Given the description of an element on the screen output the (x, y) to click on. 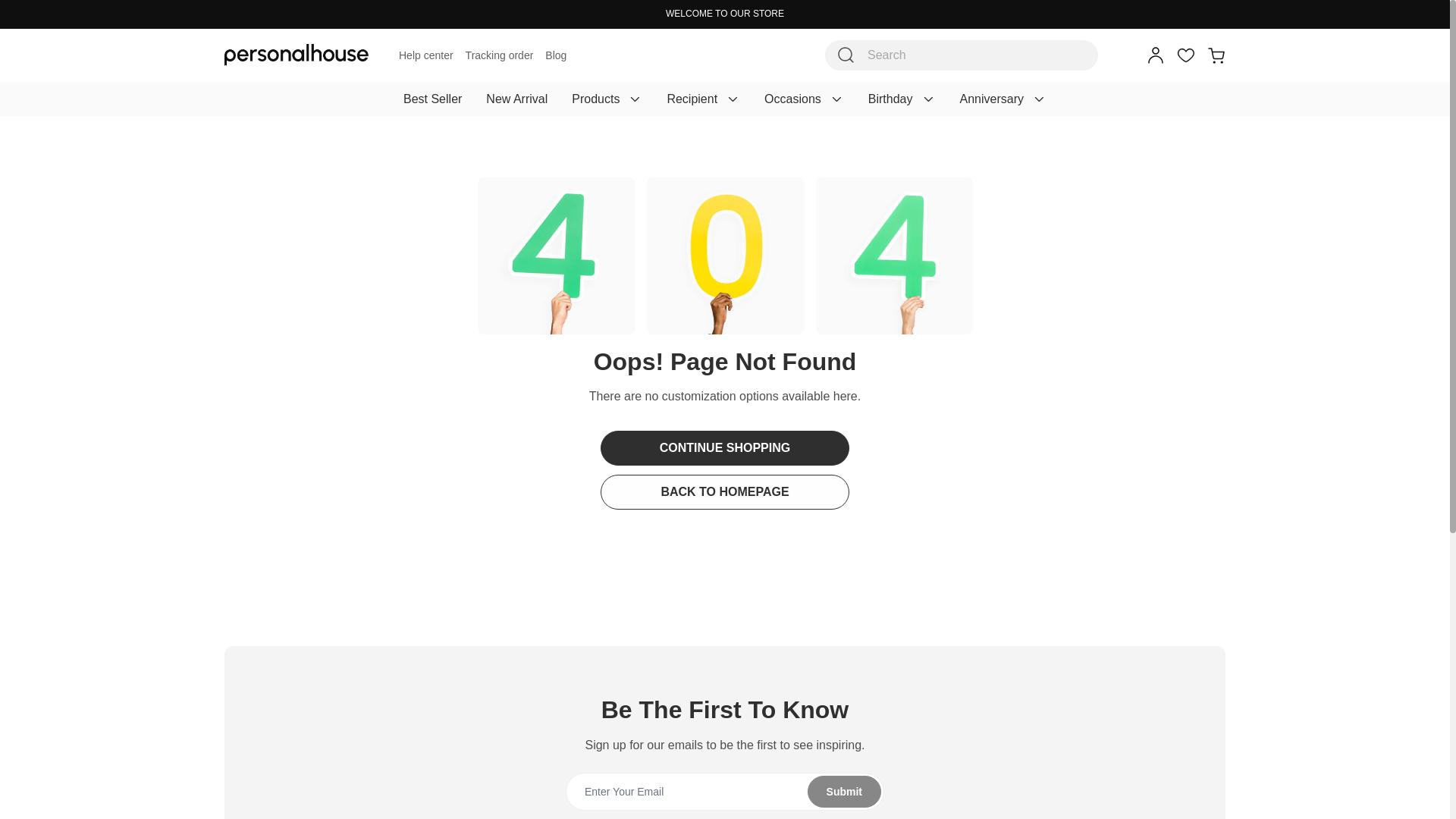
New Arrival (516, 99)
account (1155, 54)
New Arrival (516, 99)
Products (606, 99)
wishlist (1185, 54)
Best Seller (432, 99)
cart (1216, 54)
Blog (555, 55)
Blog (555, 55)
Best Seller (432, 99)
Personal House (296, 55)
Recipient (702, 99)
Submit (723, 791)
Products (606, 99)
